Given the description of an element on the screen output the (x, y) to click on. 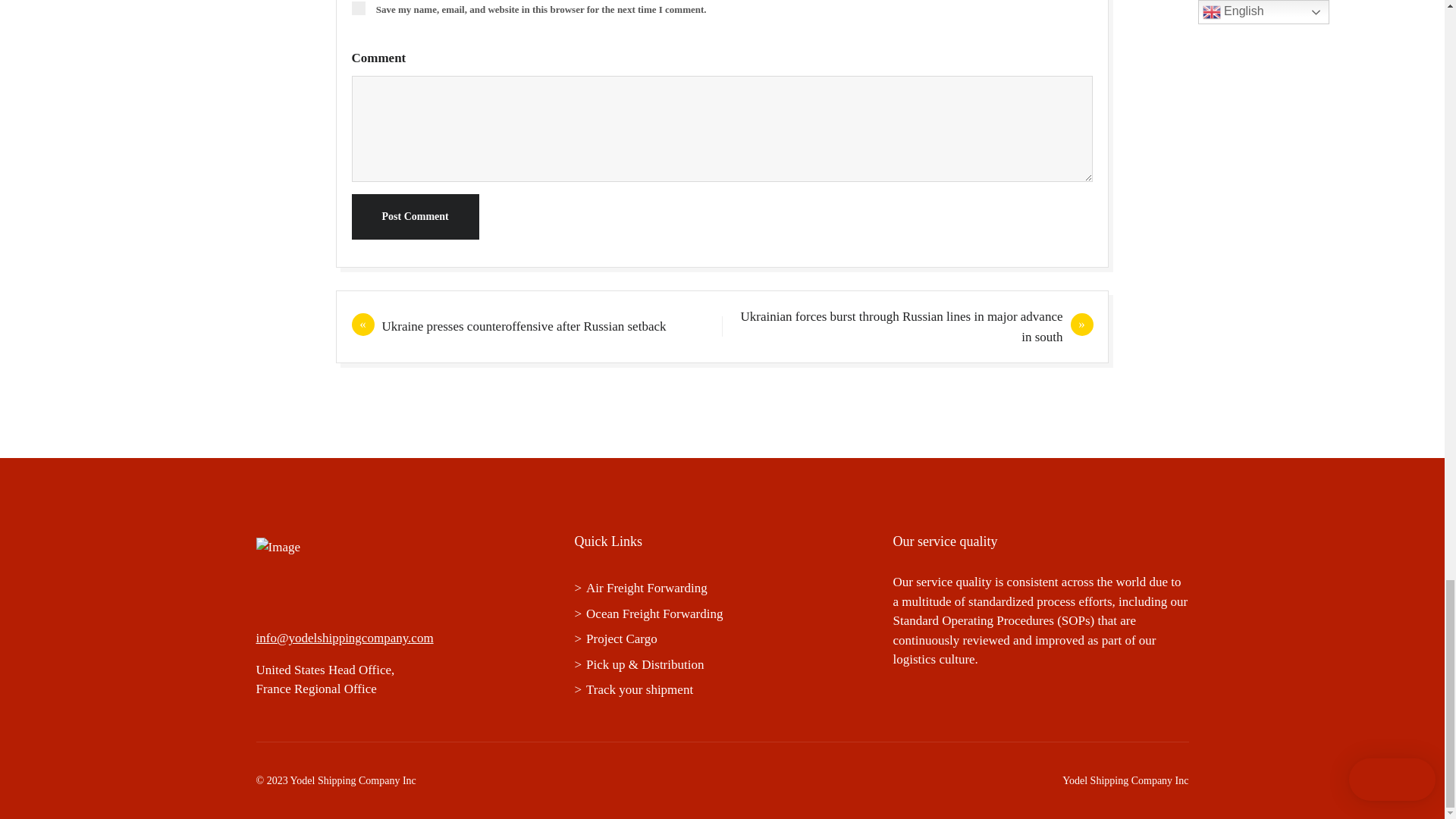
yes (358, 8)
